Given the description of an element on the screen output the (x, y) to click on. 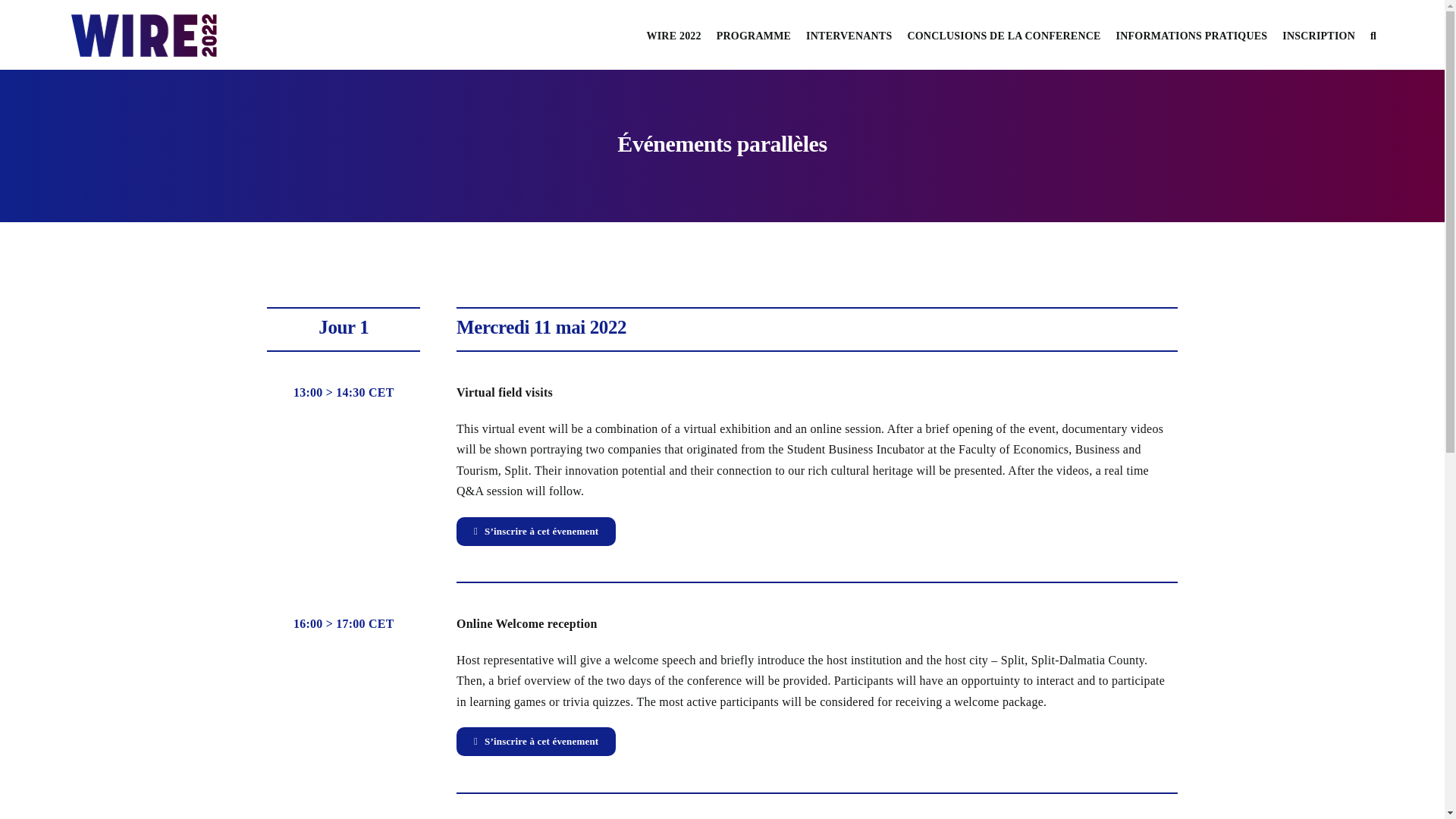
INFORMATIONS PRATIQUES (1192, 34)
INTERVENANTS (848, 34)
WIRE 2022 (673, 34)
CONCLUSIONS DE LA CONFERENCE (1003, 34)
PROGRAMME (753, 34)
INSCRIPTION (1318, 34)
